Given the description of an element on the screen output the (x, y) to click on. 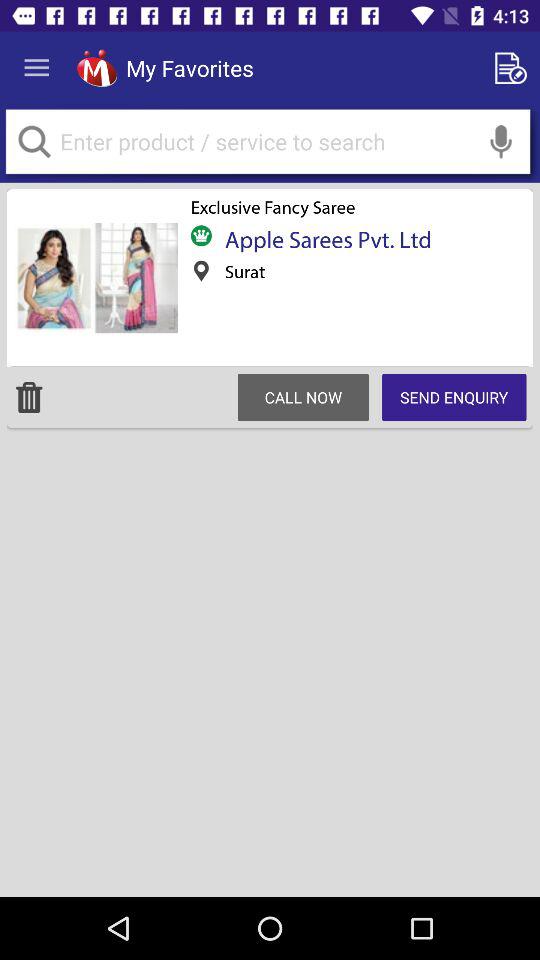
open icon to the left of send enquiry (303, 397)
